Given the description of an element on the screen output the (x, y) to click on. 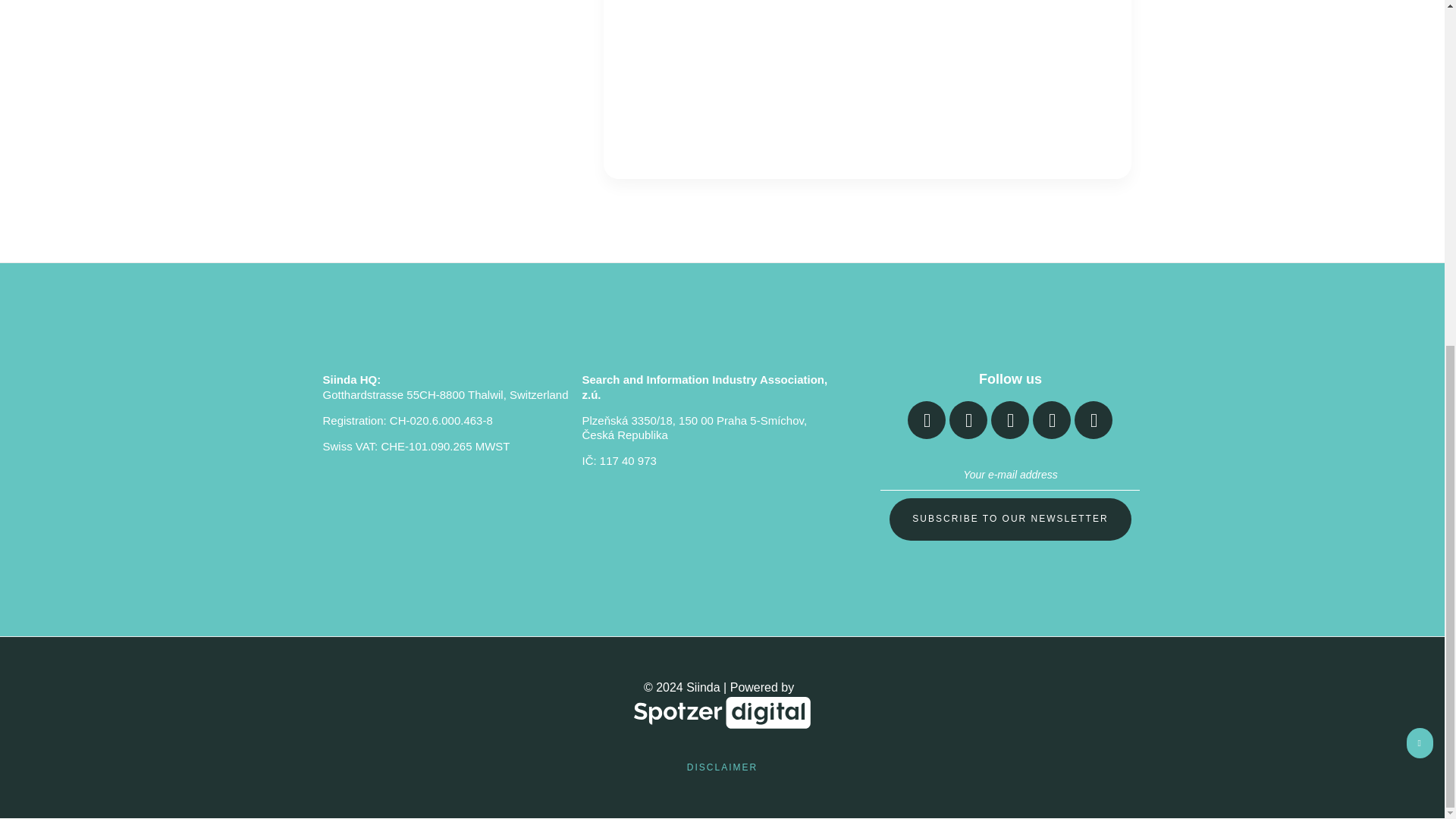
Subscribe to our newsletter (1010, 518)
